Given the description of an element on the screen output the (x, y) to click on. 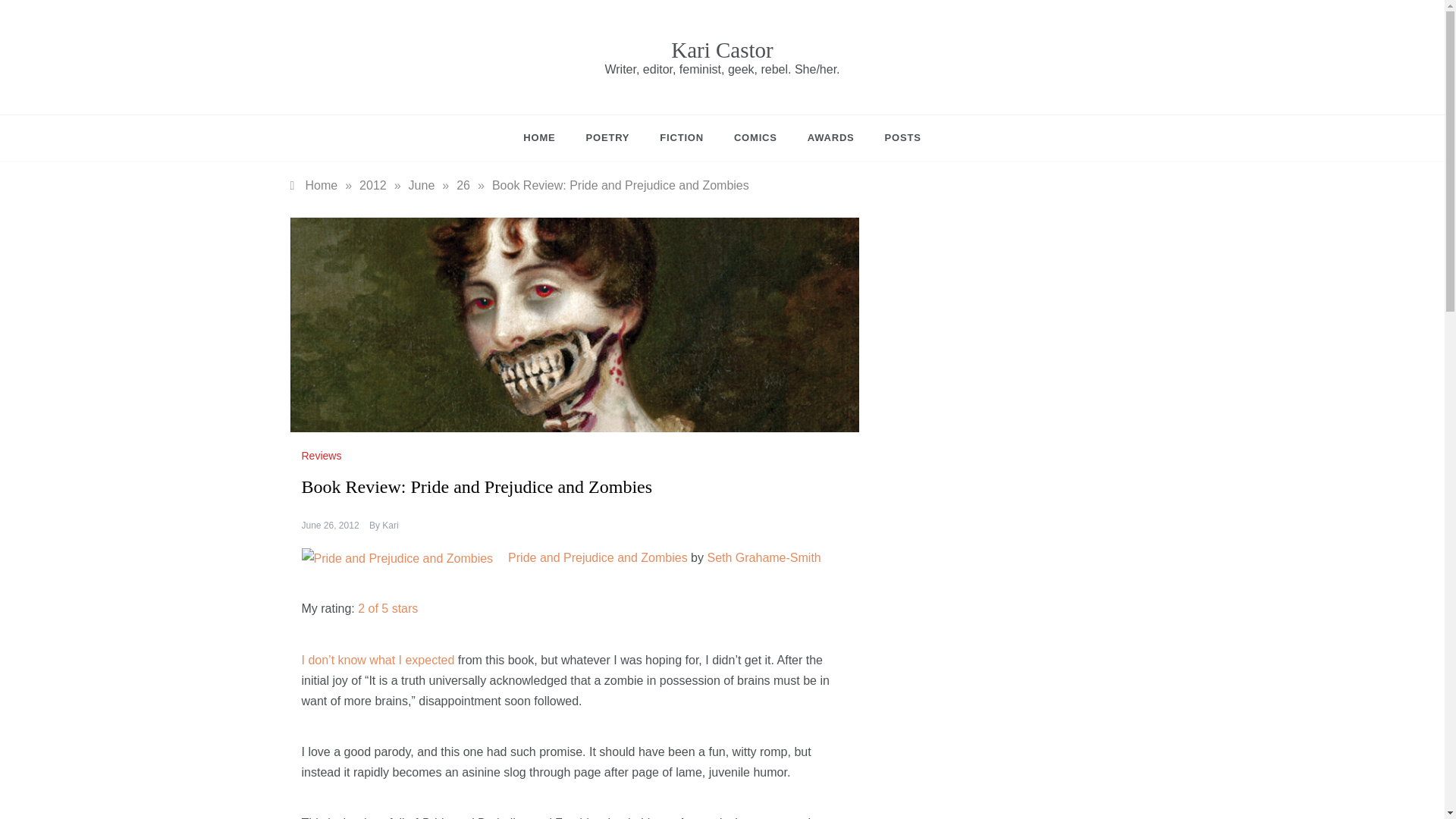
Seth Grahame-Smith (763, 557)
June 26, 2012 (330, 525)
Reviews (323, 455)
26 (463, 185)
Kari (389, 525)
POETRY (607, 137)
June (422, 185)
POSTS (895, 137)
FICTION (682, 137)
2 of 5 stars (387, 608)
HOME (546, 137)
Home (313, 185)
Pride and Prejudice and Zombies (597, 557)
COMICS (755, 137)
Book Review: Pride and Prejudice and Zombies (620, 185)
